Given the description of an element on the screen output the (x, y) to click on. 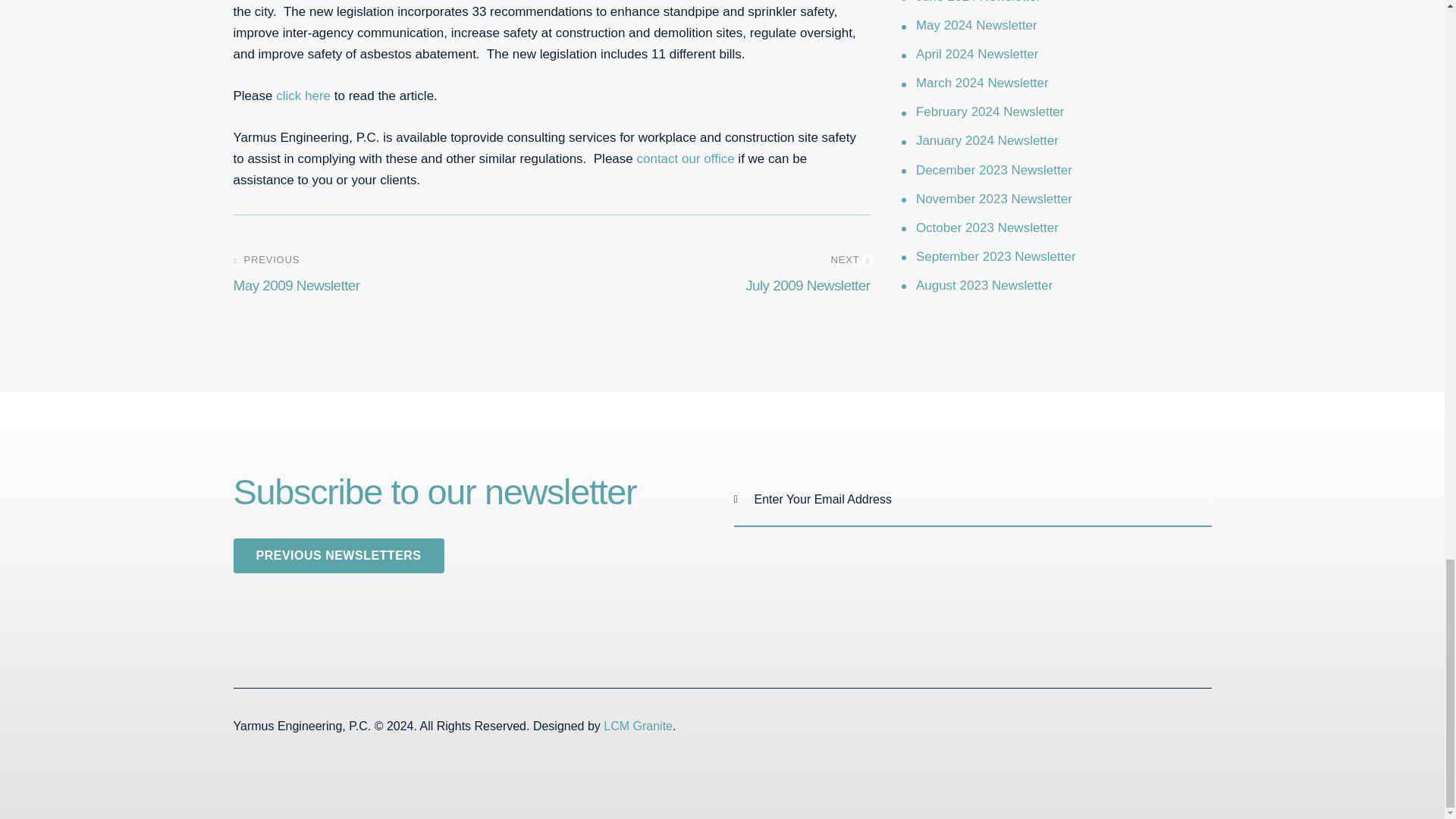
click here (715, 275)
contact our office (303, 95)
